Given the description of an element on the screen output the (x, y) to click on. 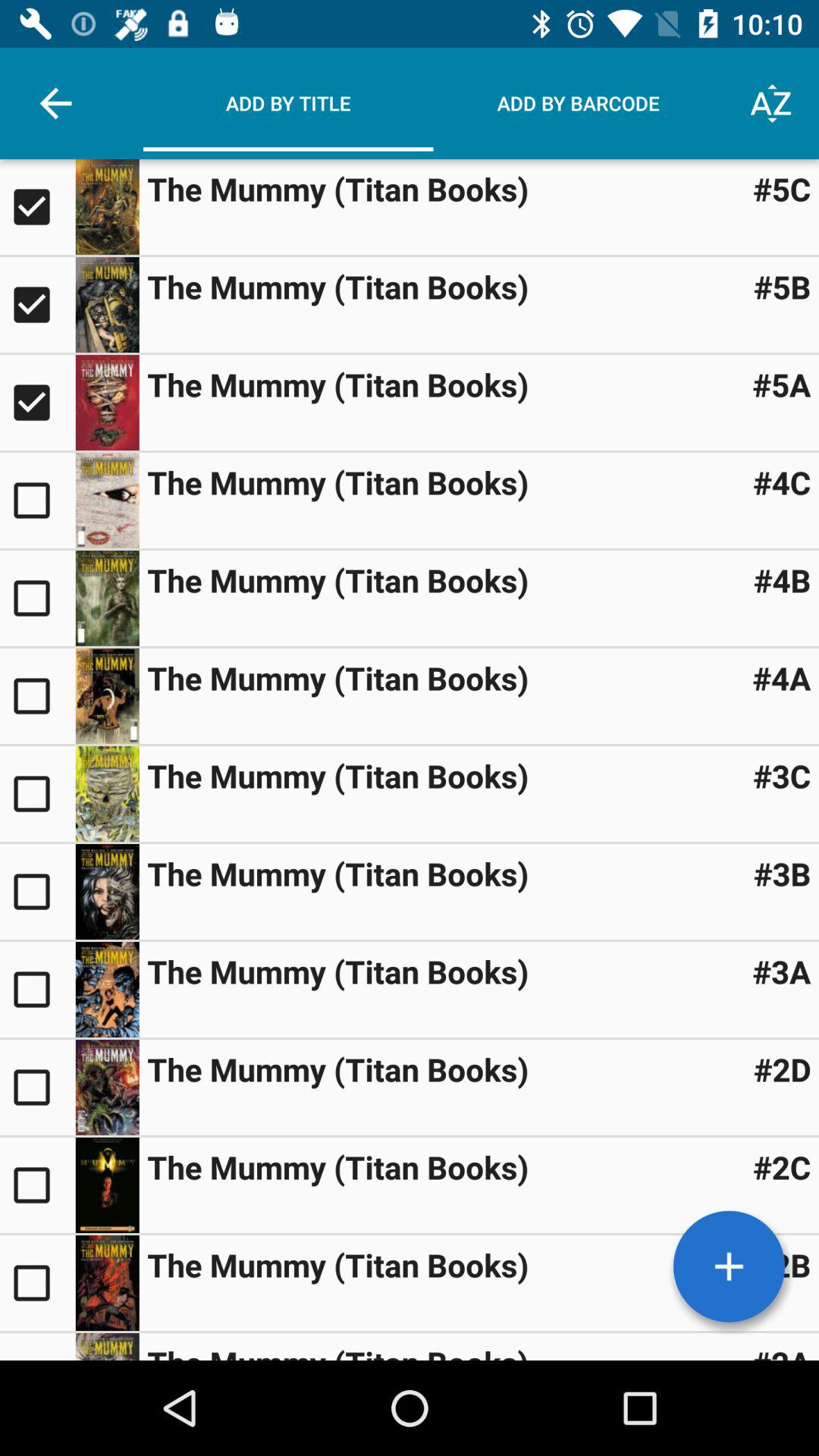
turn off icon to the right of the the mummy titan icon (781, 384)
